Given the description of an element on the screen output the (x, y) to click on. 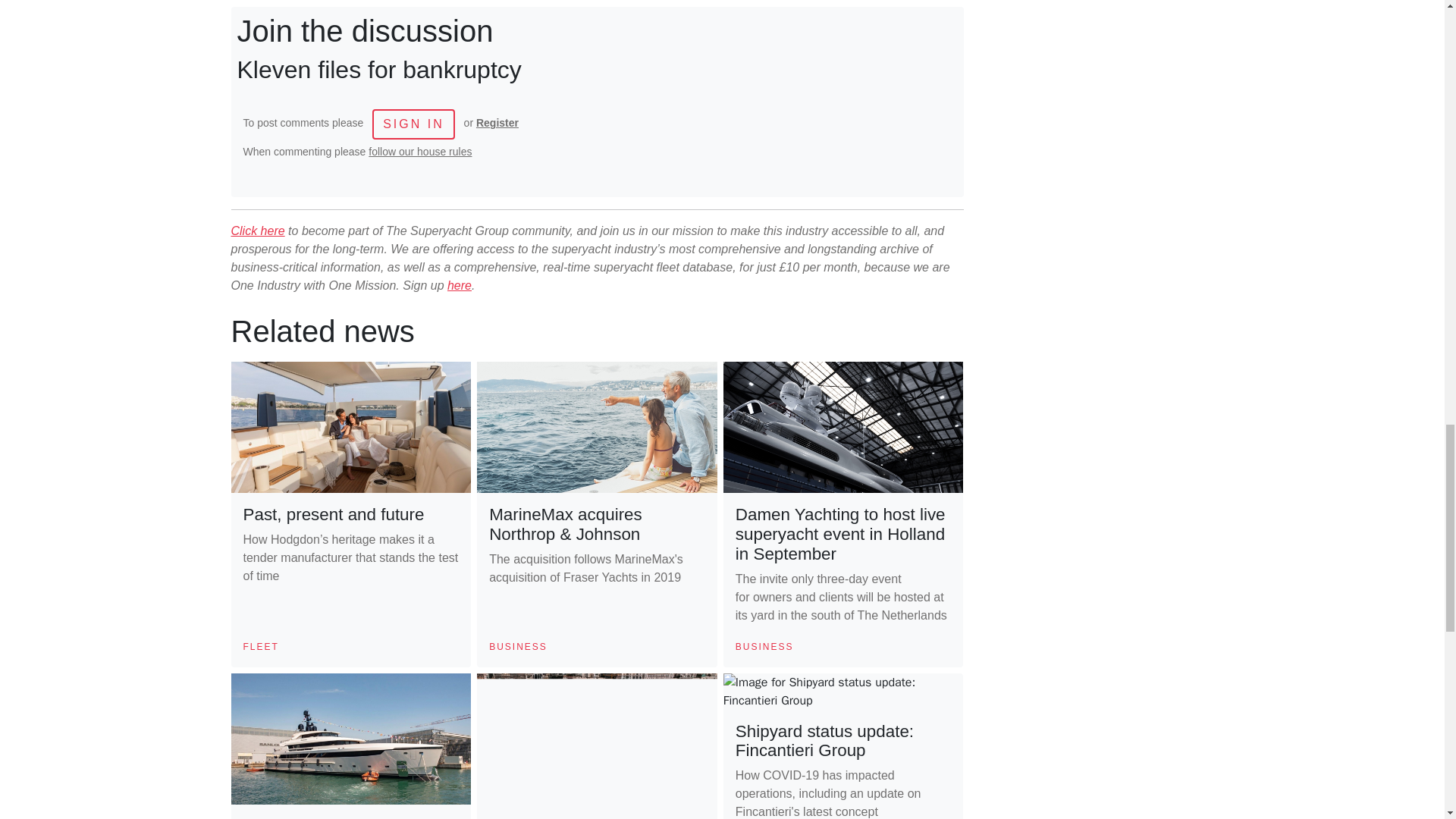
Monaco Yacht Show postponed until 2021 (567, 817)
Past, present and future (333, 514)
Click here (256, 230)
Sanlorenzo launches first 62Steel unit (337, 817)
follow our house rules (419, 151)
here (458, 285)
